Given the description of an element on the screen output the (x, y) to click on. 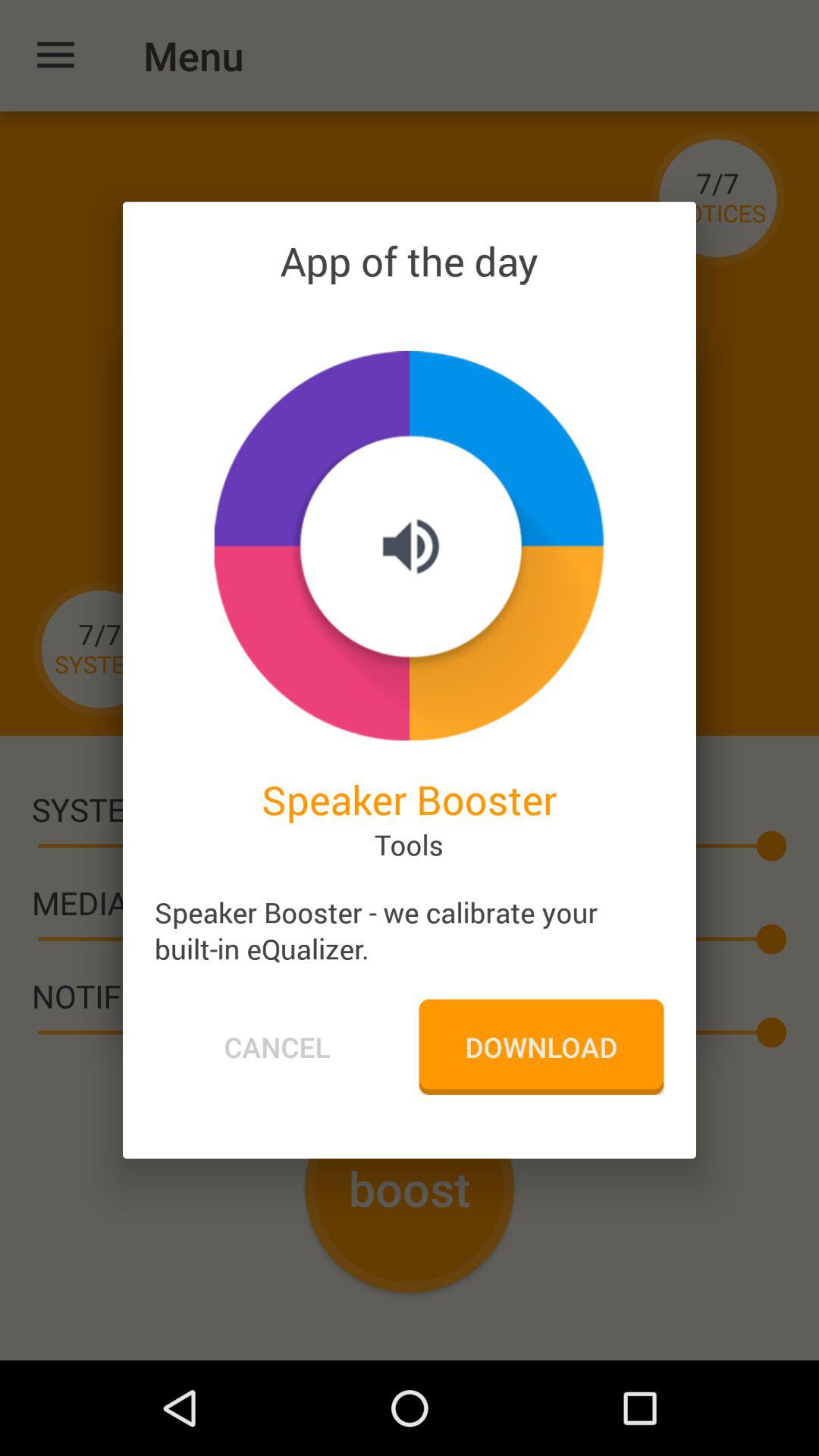
launch download icon (541, 1046)
